Given the description of an element on the screen output the (x, y) to click on. 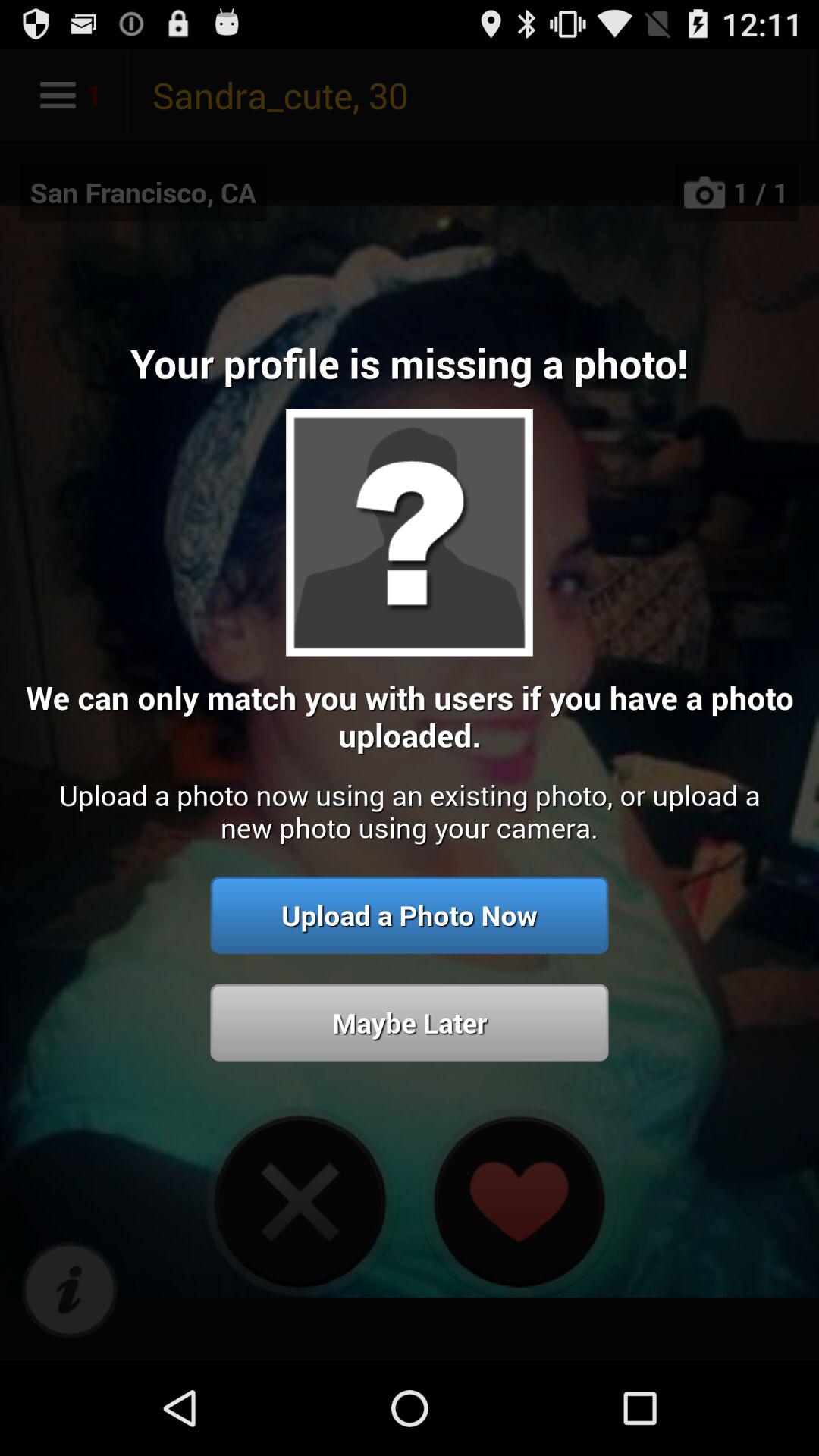
open item below the upload a photo (409, 1022)
